Given the description of an element on the screen output the (x, y) to click on. 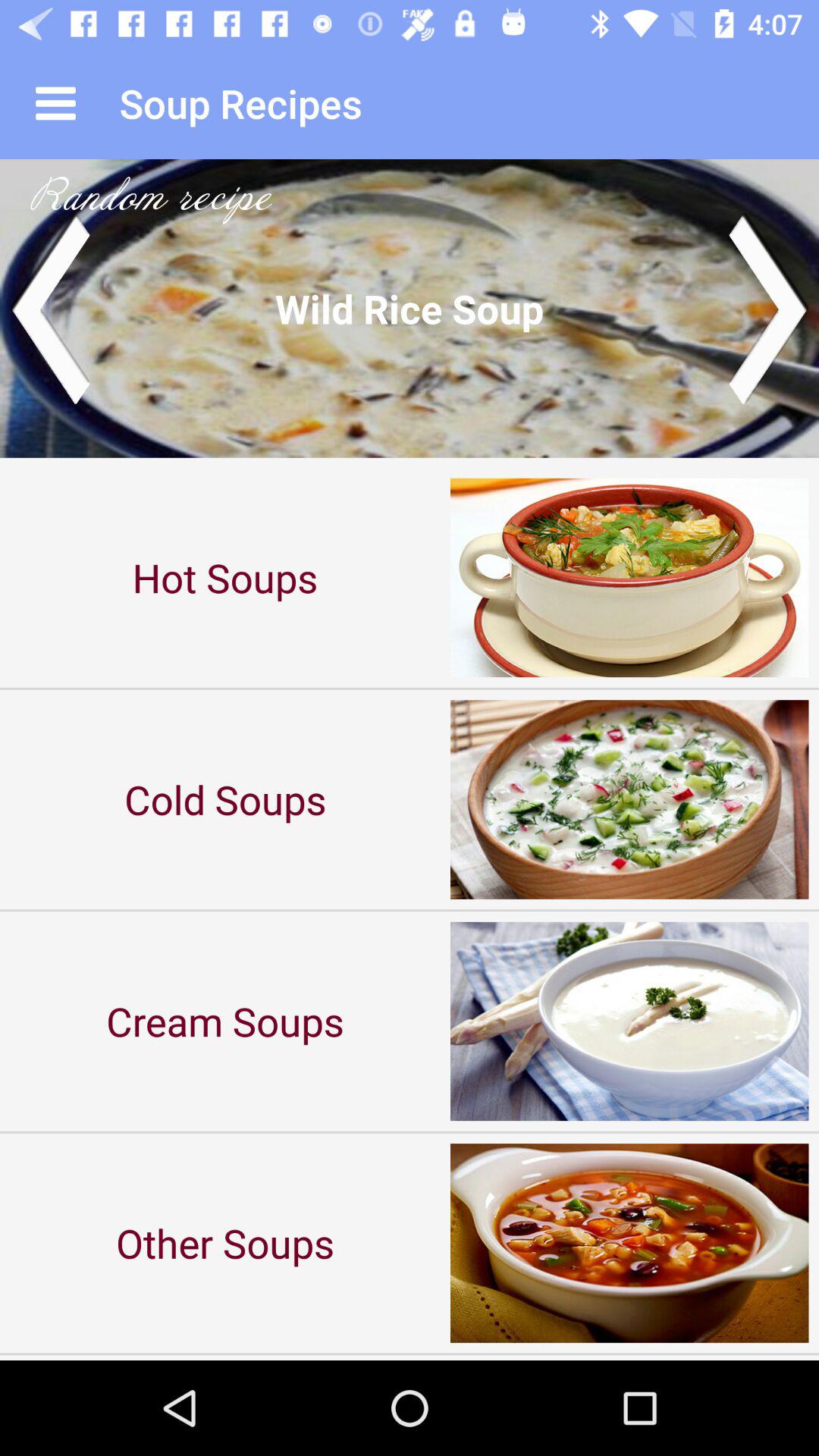
turn off icon below the hot soups item (225, 798)
